Given the description of an element on the screen output the (x, y) to click on. 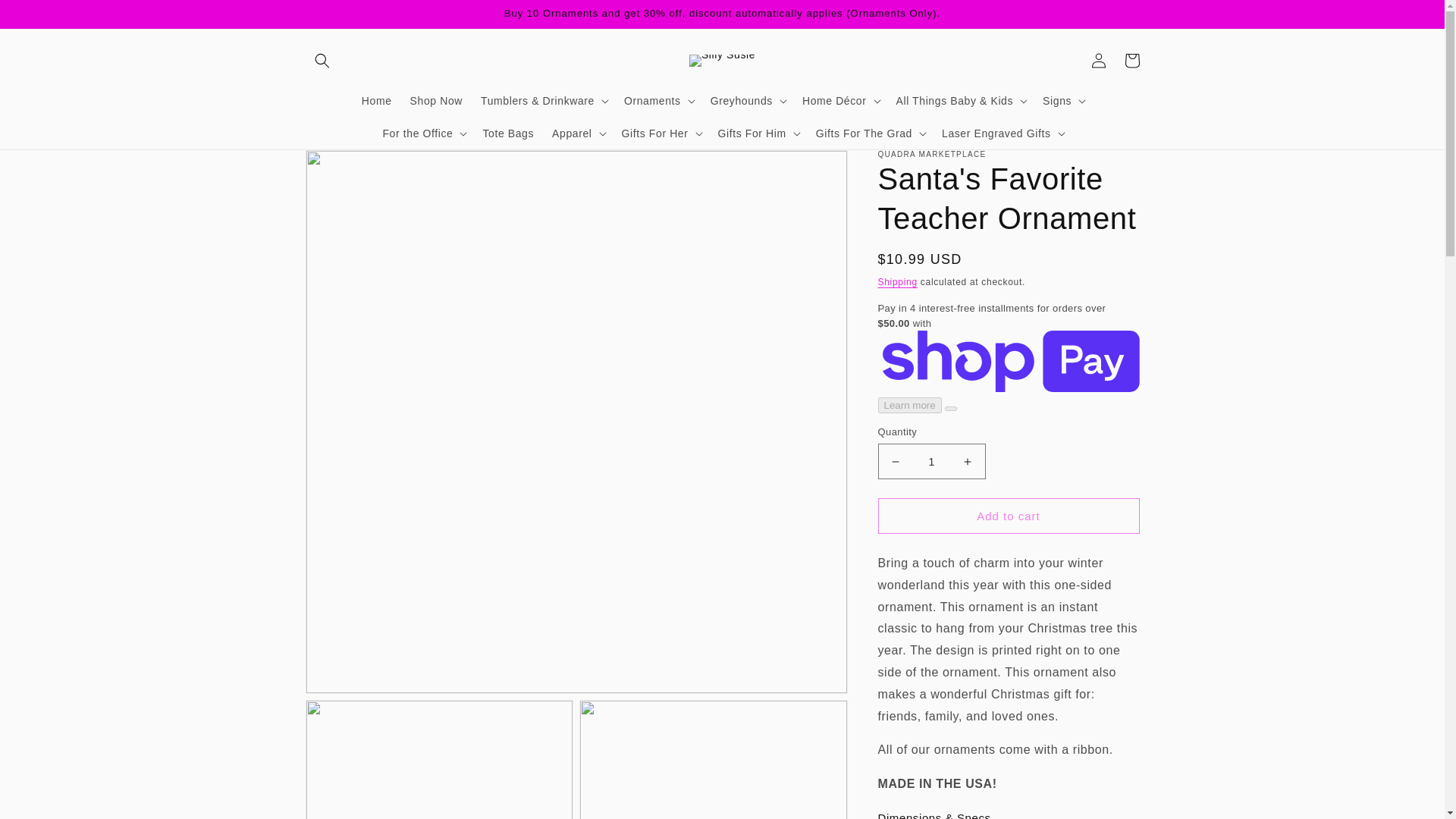
Skip to content (45, 17)
1 (931, 461)
